Given the description of an element on the screen output the (x, y) to click on. 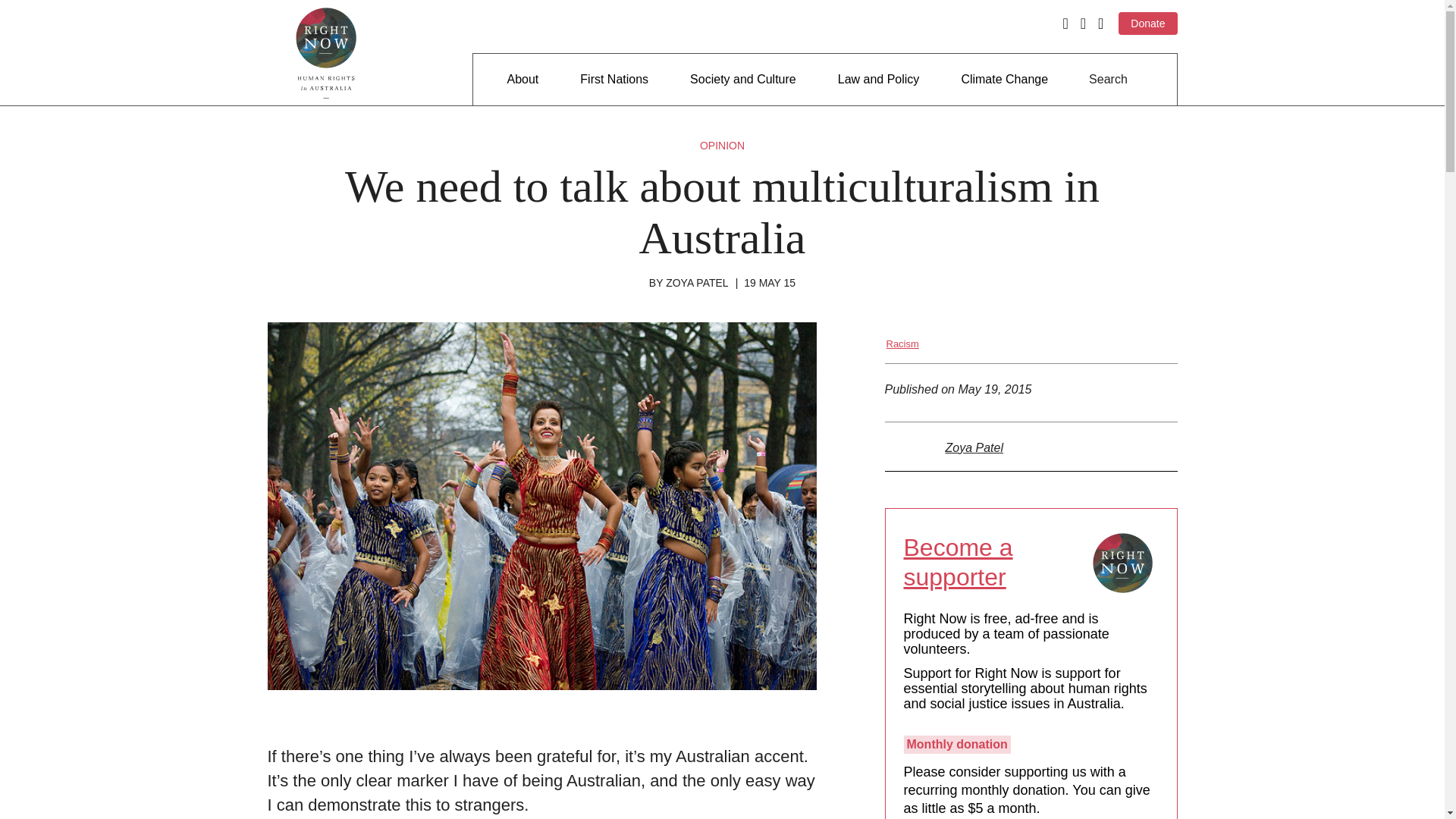
Climate Change (1004, 79)
About (522, 79)
Law and Policy (879, 79)
Zoya Patel (973, 447)
OPINION (722, 145)
First Nations (613, 79)
ZOYA PATEL (696, 282)
Society and Culture (743, 79)
Racism (901, 344)
Donate (1147, 23)
